Given the description of an element on the screen output the (x, y) to click on. 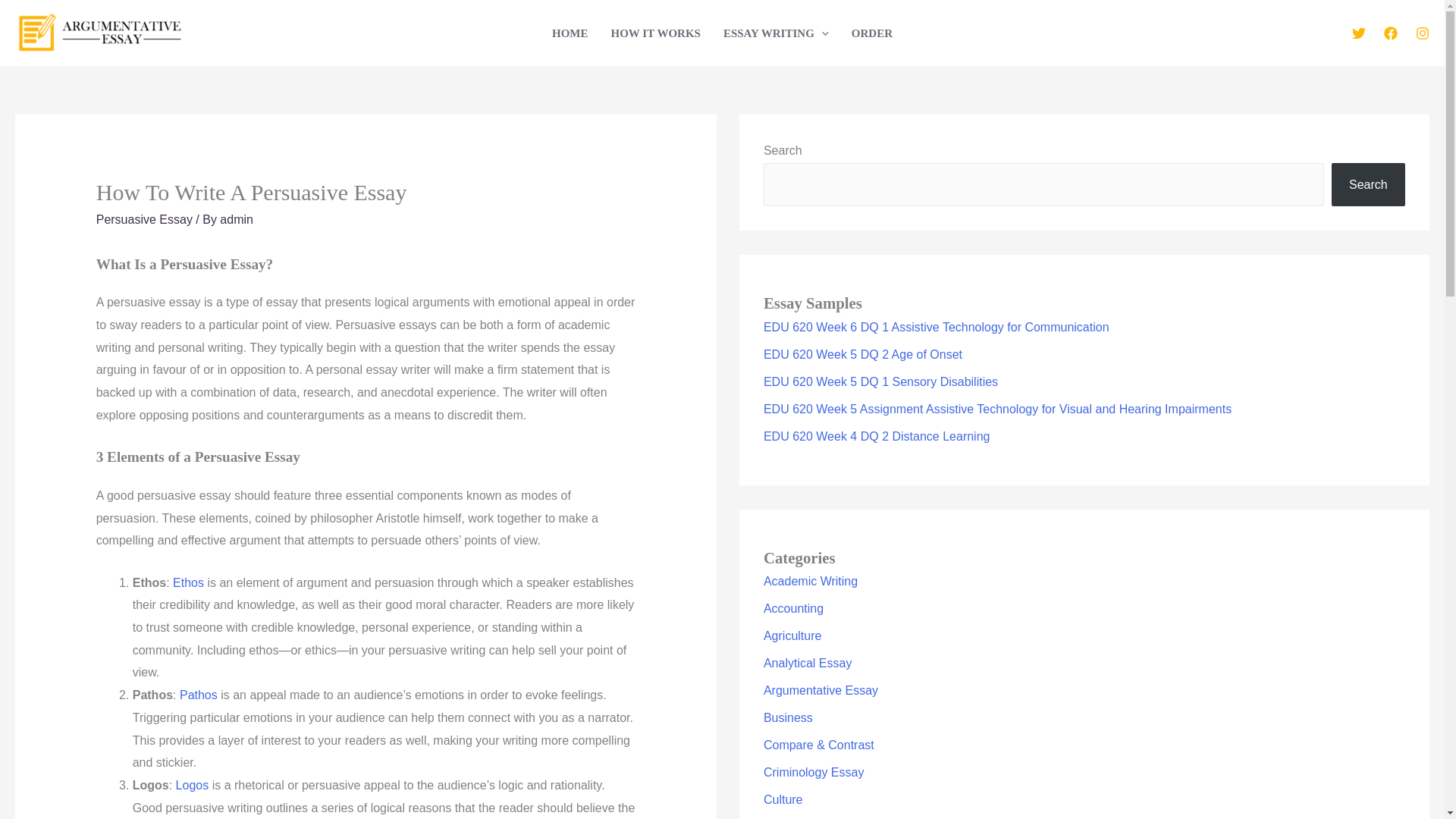
Ethos (188, 582)
Logos (192, 784)
Persuasive Essay (144, 219)
View all posts by admin (236, 219)
Pathos (197, 694)
admin (236, 219)
Academic Writing (809, 581)
Agriculture (791, 635)
ORDER (872, 31)
Accounting (793, 608)
EDU 620 Week 5 DQ 1 Sensory Disabilities (879, 381)
HOW IT WORKS (655, 31)
EDU 620 Week 4 DQ 2 Distance Learning (876, 436)
ESSAY WRITING (775, 31)
HOME (569, 31)
